Given the description of an element on the screen output the (x, y) to click on. 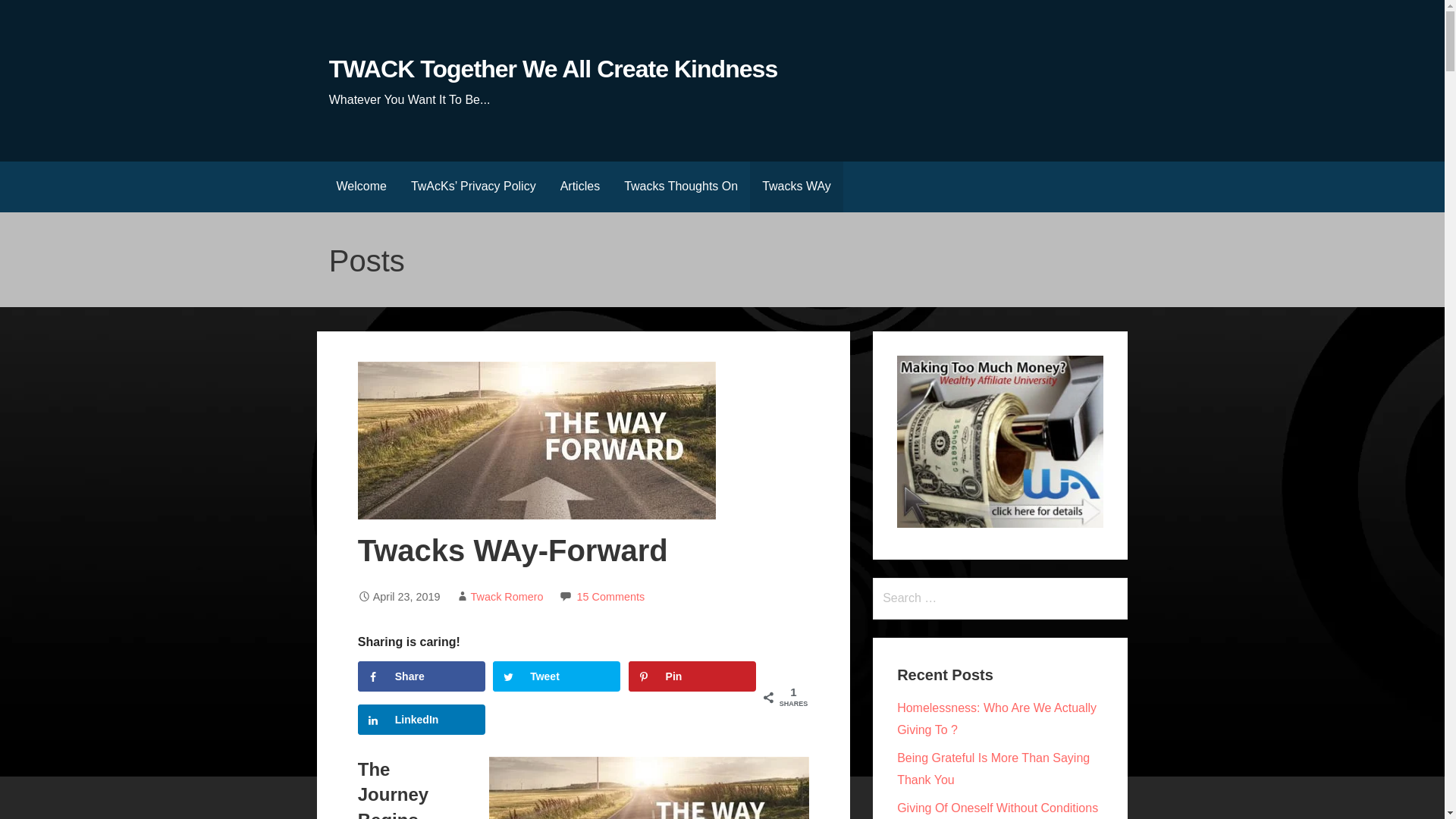
The Way Forward (649, 787)
Share (421, 675)
15 Comments (610, 596)
Twacks Thoughts On (680, 186)
Share on Tweet (556, 675)
Tweet (556, 675)
Share on Share (421, 675)
LinkedIn (421, 719)
Save to Pinterest (691, 675)
Share on LinkedIn (421, 719)
Welcome (361, 186)
Twack Romero (506, 596)
Articles (579, 186)
TWACK Together We All Create Kindness (553, 68)
